Given the description of an element on the screen output the (x, y) to click on. 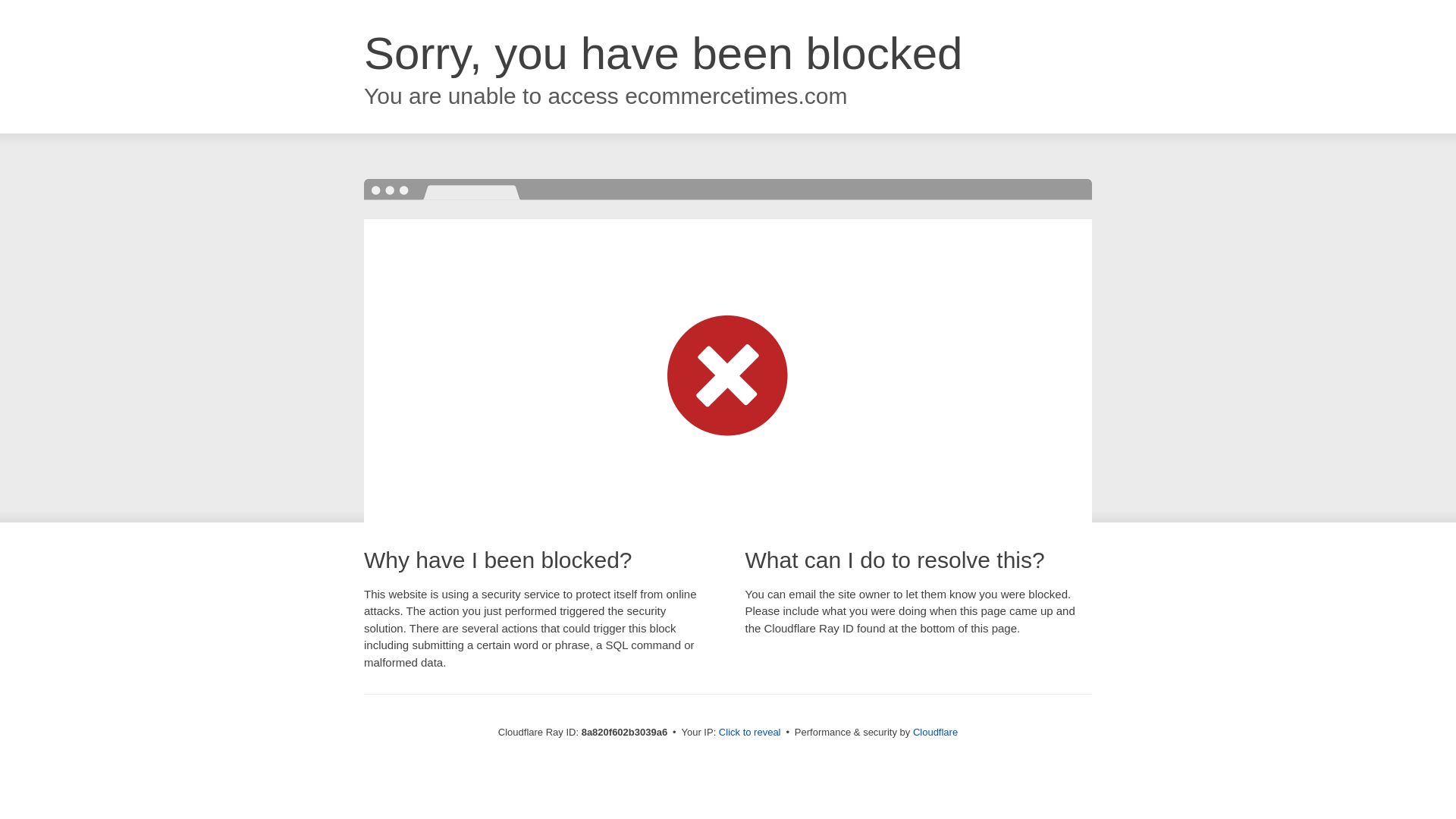
Click to reveal (749, 732)
Cloudflare (935, 731)
